Given the description of an element on the screen output the (x, y) to click on. 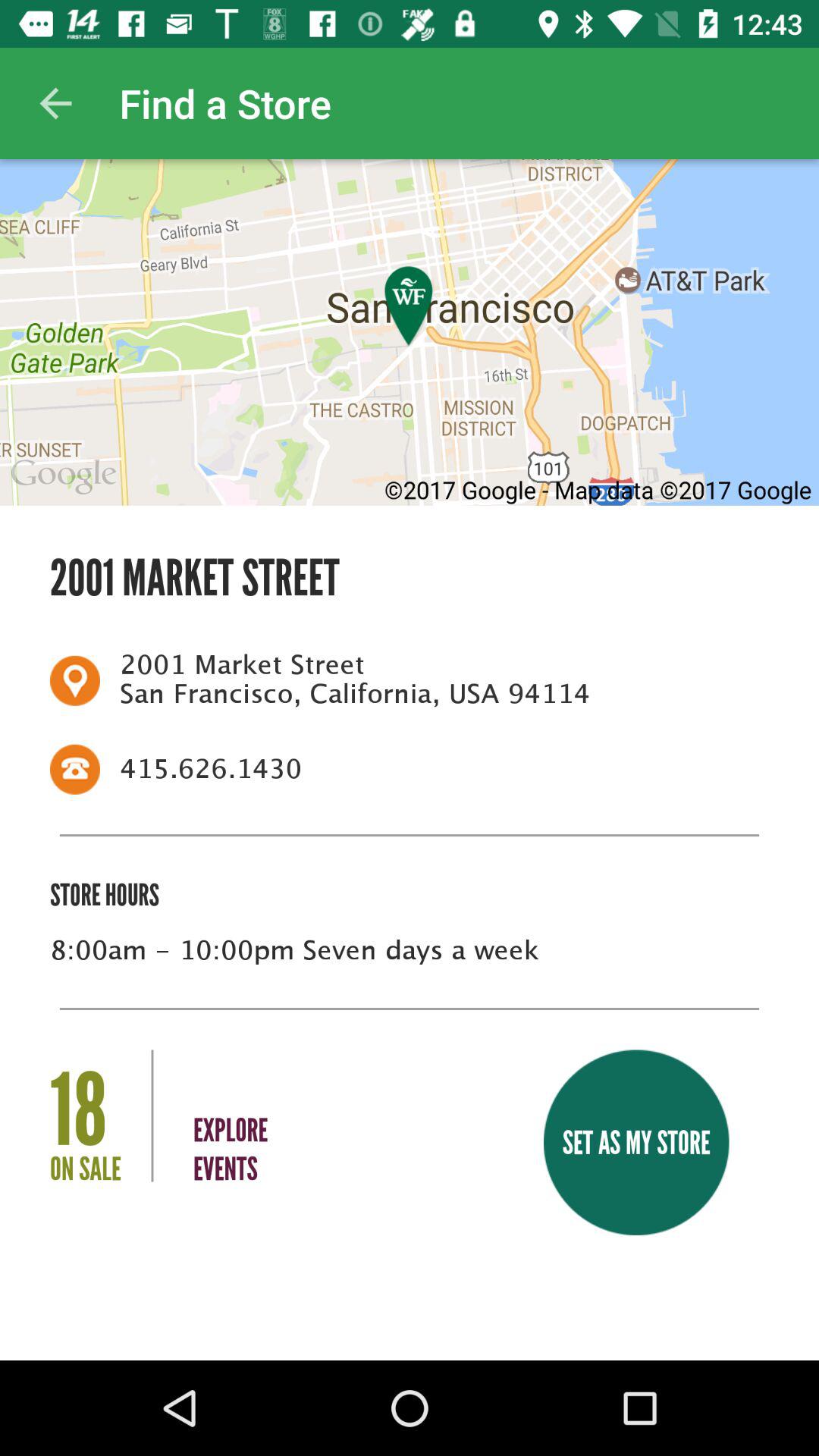
tap the 415.626.1430 (434, 769)
